Given the description of an element on the screen output the (x, y) to click on. 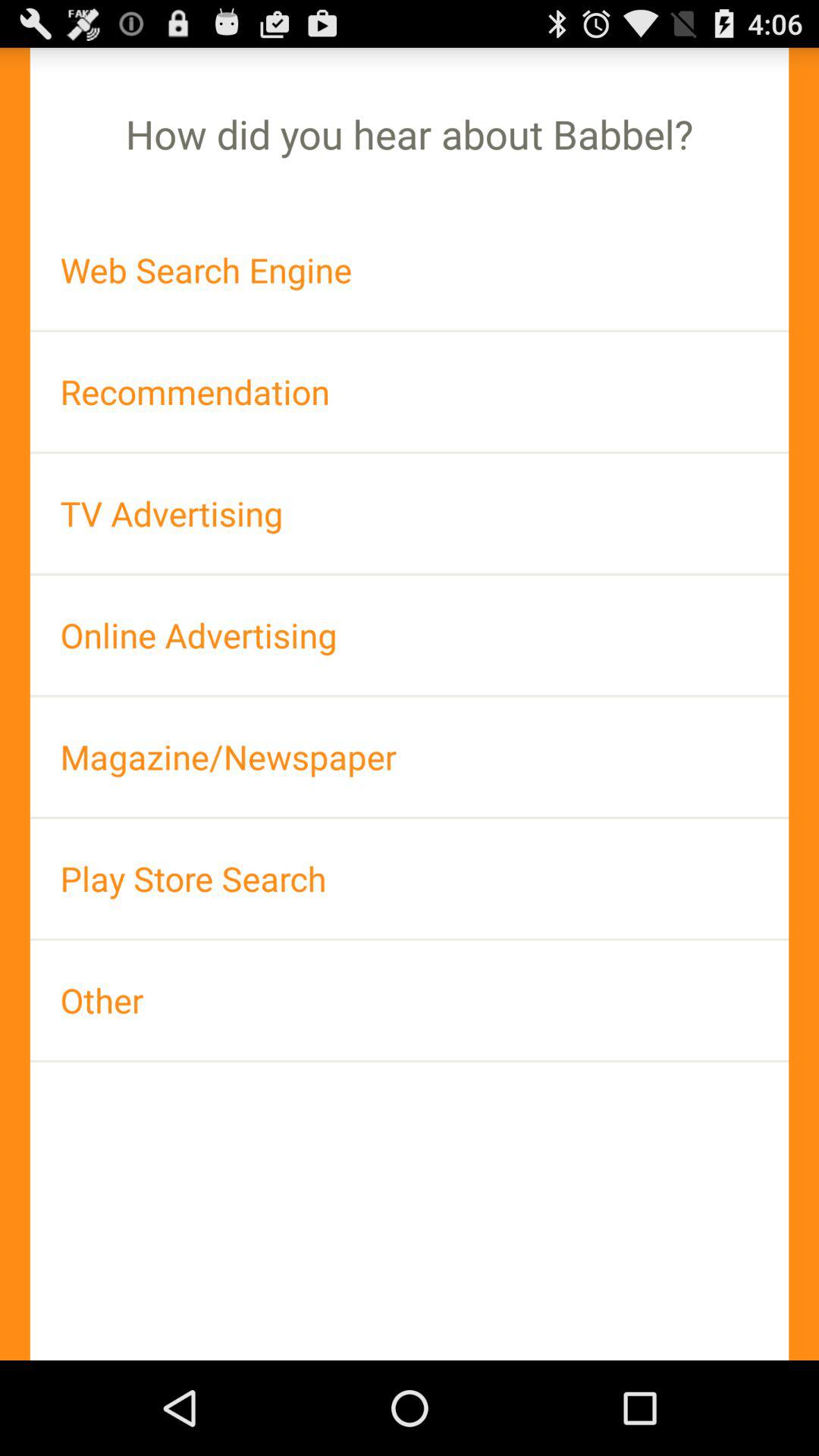
turn off app above other item (409, 878)
